Given the description of an element on the screen output the (x, y) to click on. 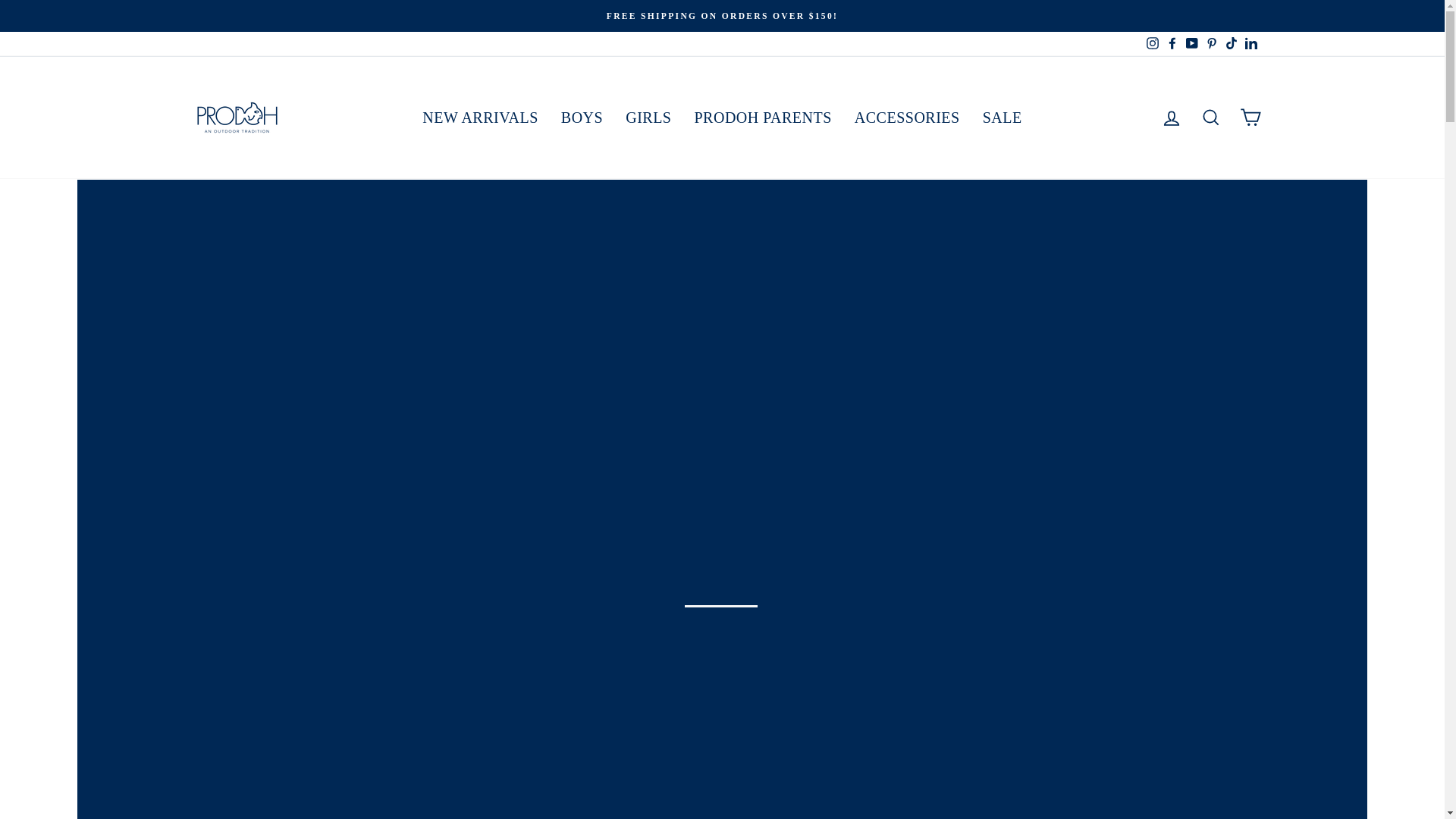
PRODOH on Facebook (1170, 43)
PRODOH on LinkedIn (1250, 43)
PRODOH on Instagram (1151, 43)
PRODOH on Pinterest (1211, 43)
PRODOH on YouTube (1190, 43)
PRODOH on TikTok (1230, 43)
